Given the description of an element on the screen output the (x, y) to click on. 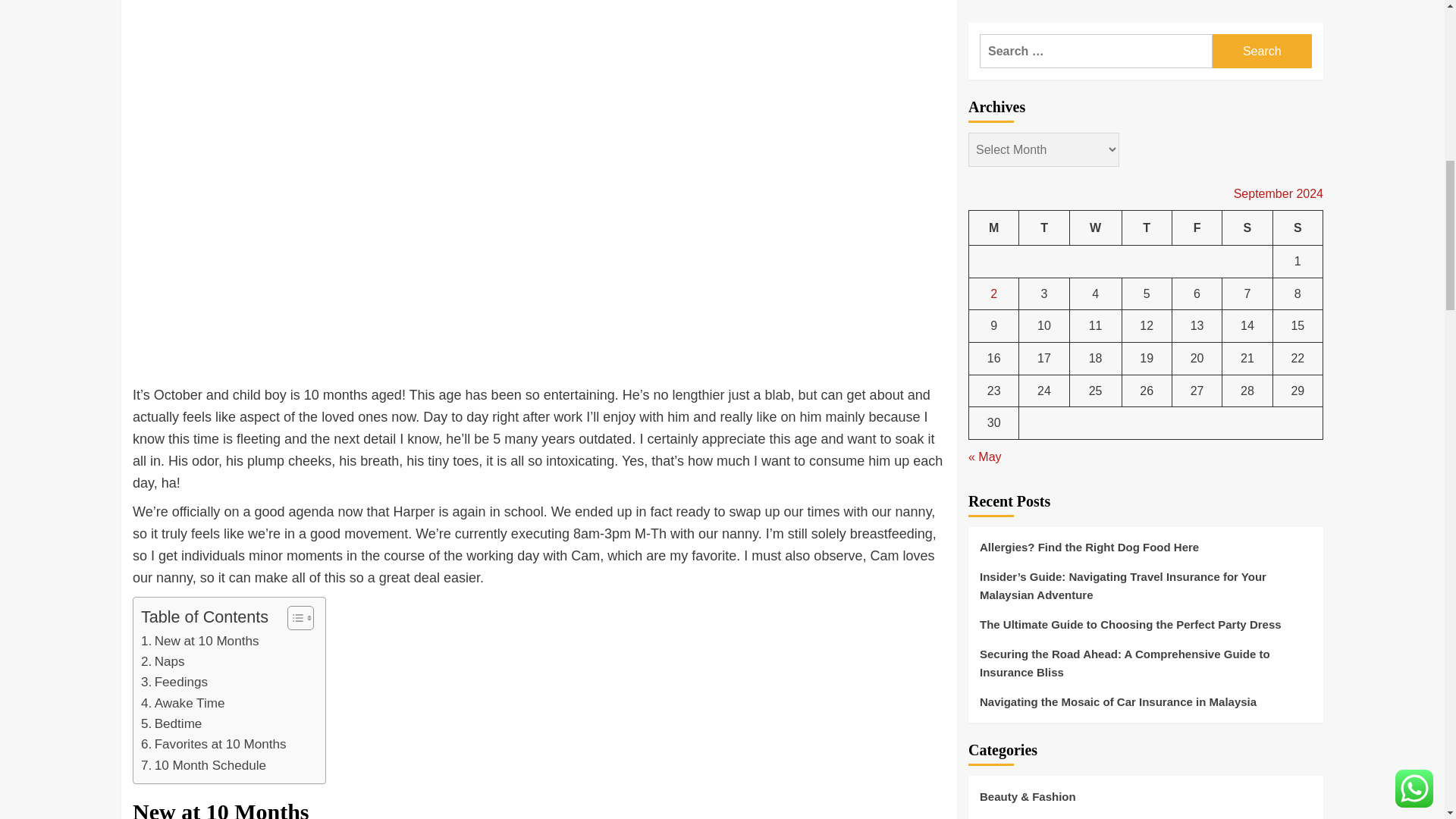
Favorites at 10 Months (213, 743)
New at 10 Months (200, 640)
10 Month Schedule (203, 765)
Naps (162, 661)
Bedtime (171, 723)
Naps (162, 661)
Bedtime (171, 723)
Favorites at 10 Months (213, 743)
Awake Time (182, 702)
Feedings (174, 681)
